Given the description of an element on the screen output the (x, y) to click on. 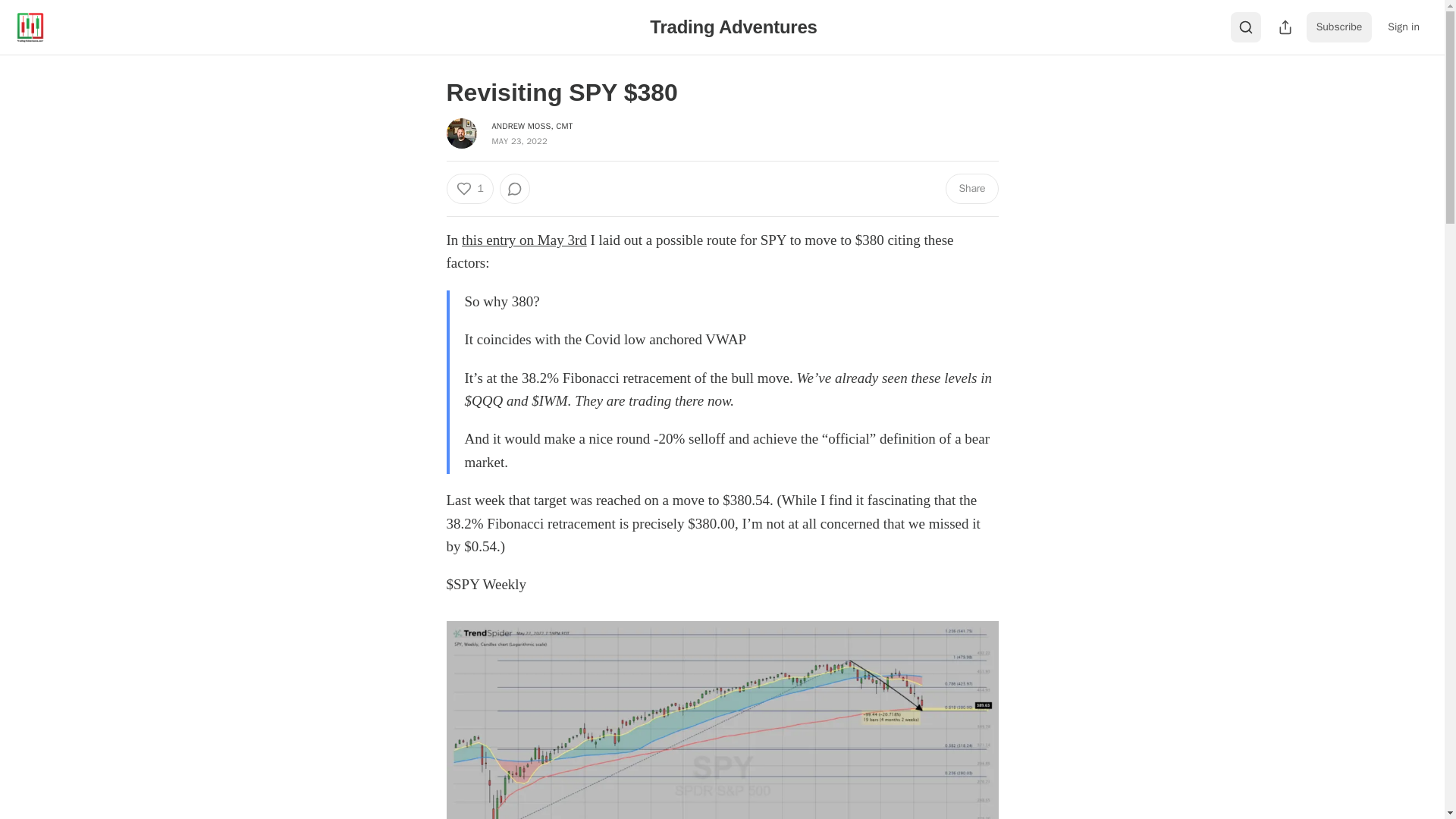
this entry on May 3rd (523, 239)
Sign in (1403, 27)
Subscribe (1339, 27)
1 (469, 188)
Share (970, 188)
ANDREW MOSS, CMT (532, 125)
Trading Adventures (732, 26)
